Given the description of an element on the screen output the (x, y) to click on. 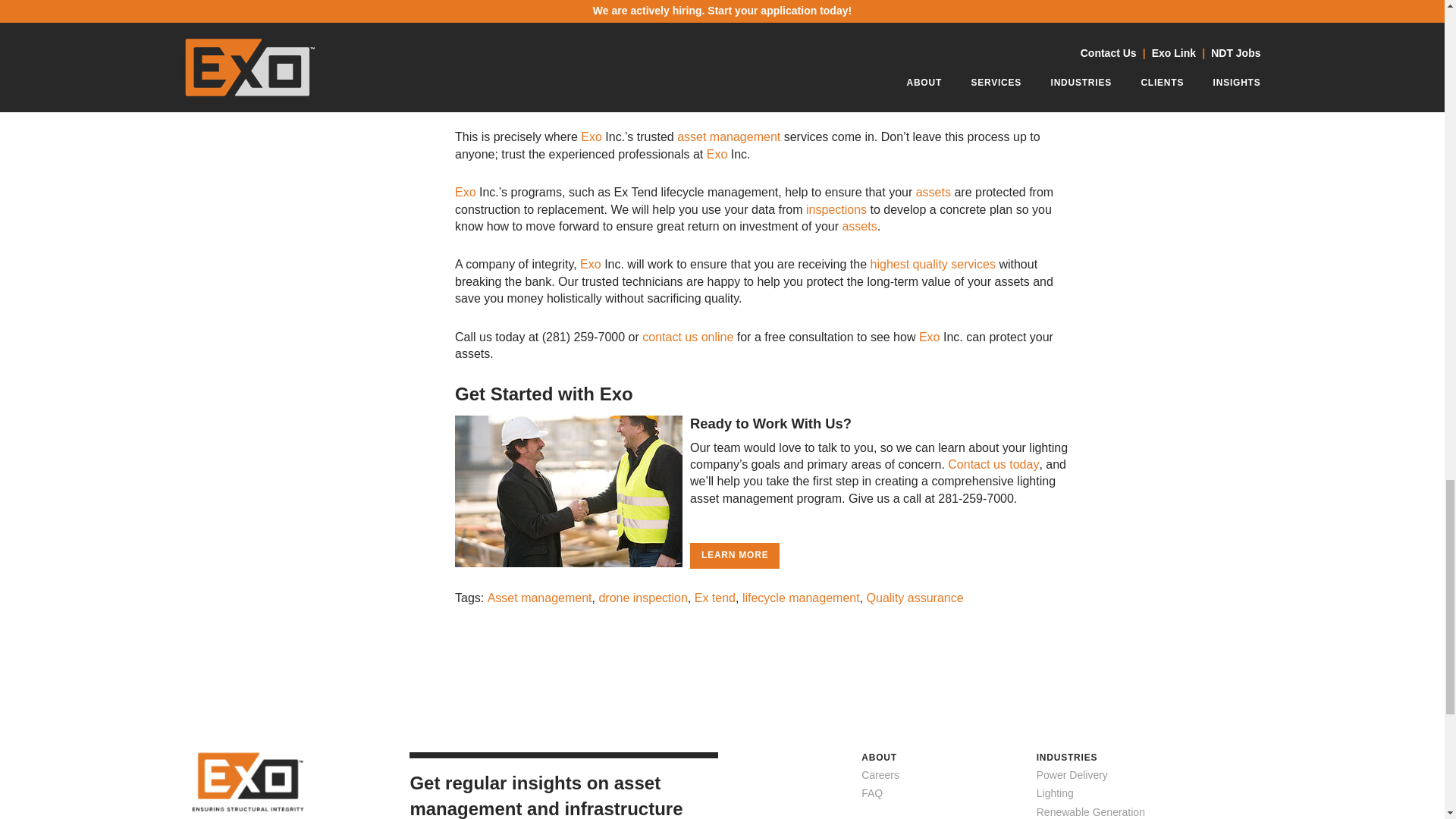
Learn More (734, 555)
